Given the description of an element on the screen output the (x, y) to click on. 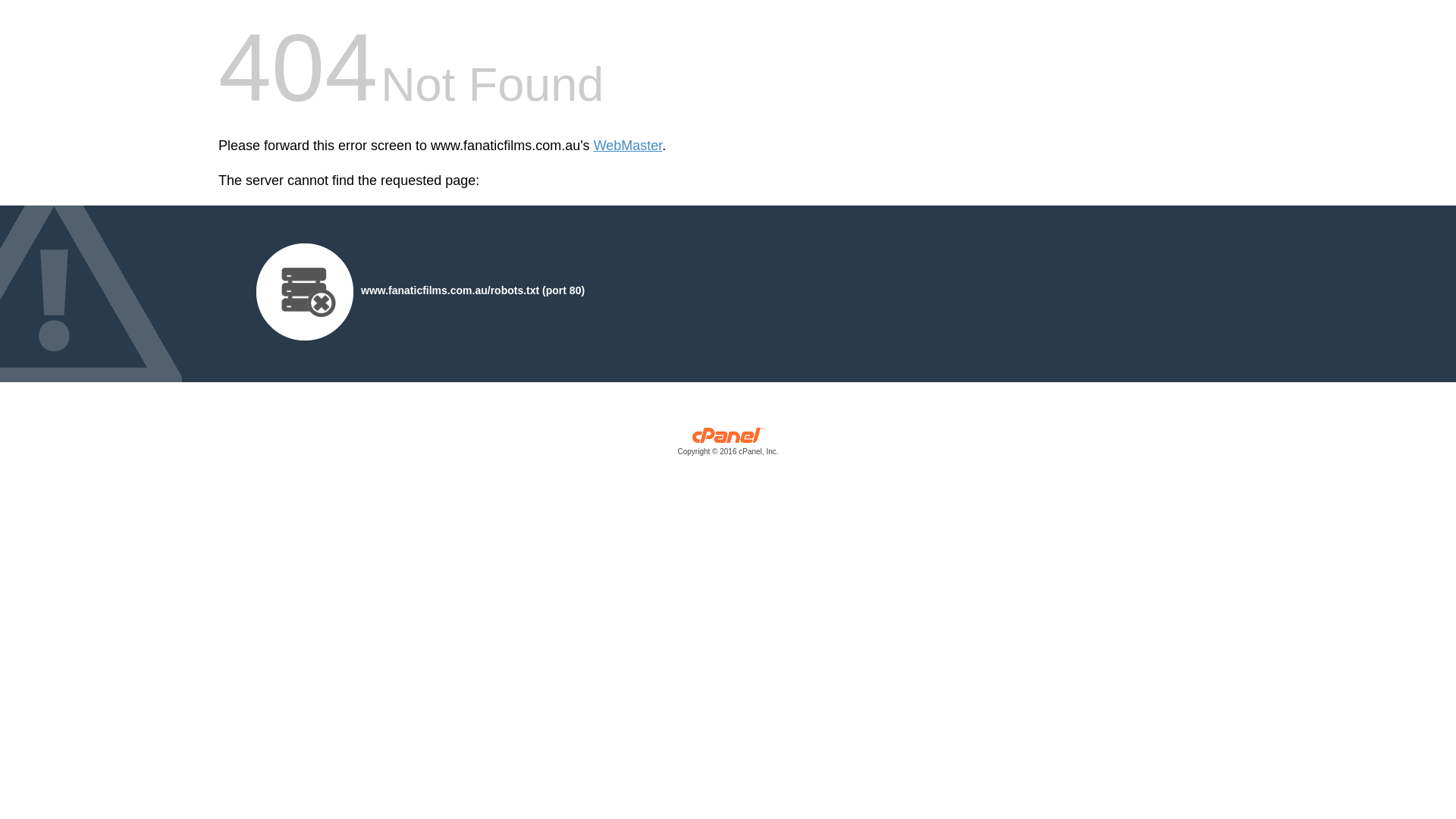
WebMaster Element type: text (627, 145)
